Given the description of an element on the screen output the (x, y) to click on. 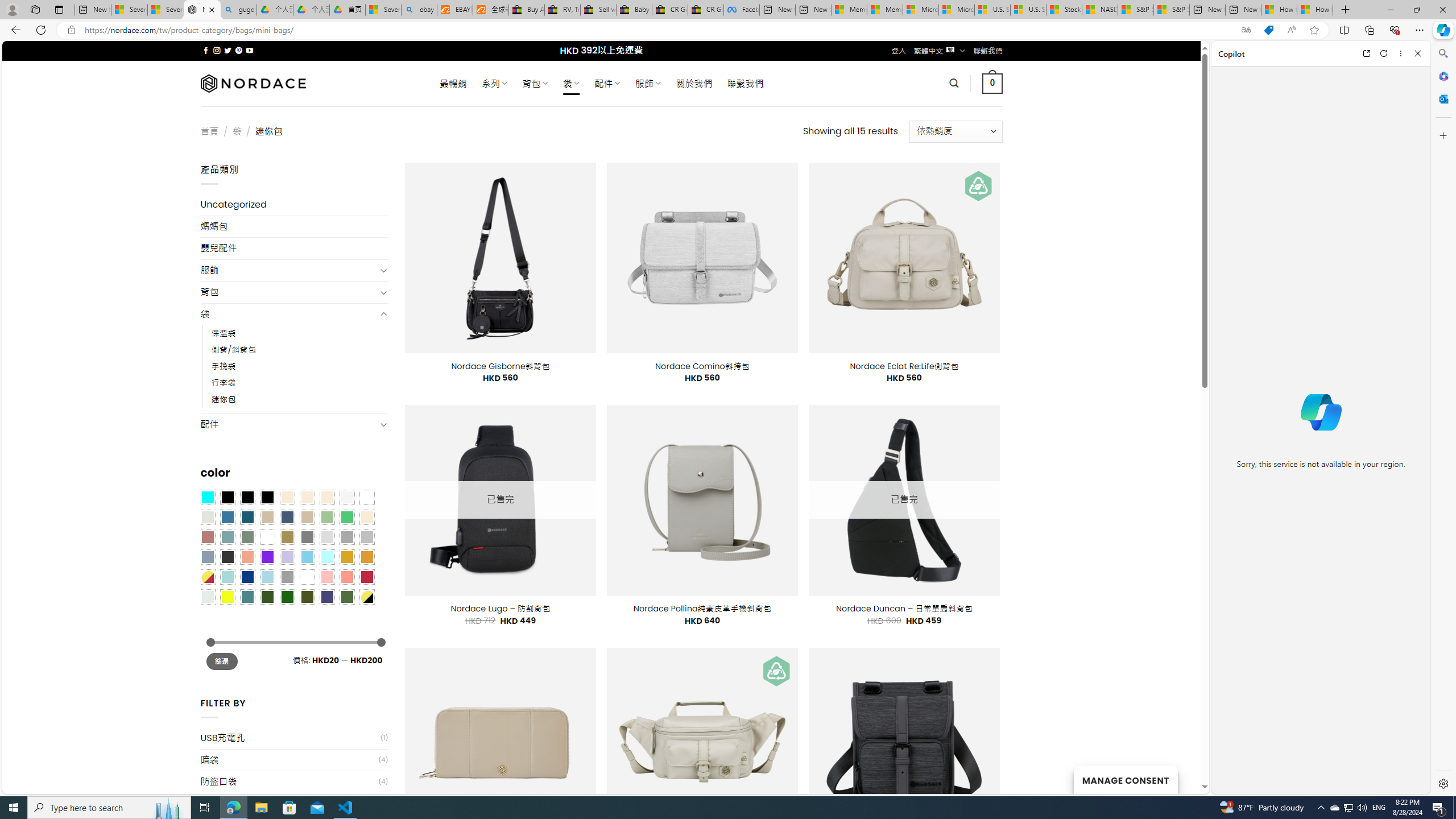
Nordace (252, 83)
Buy Auto Parts & Accessories | eBay (525, 9)
Sell worldwide with eBay (598, 9)
Workspaces (34, 9)
Browser essentials (1394, 29)
